Given the description of an element on the screen output the (x, y) to click on. 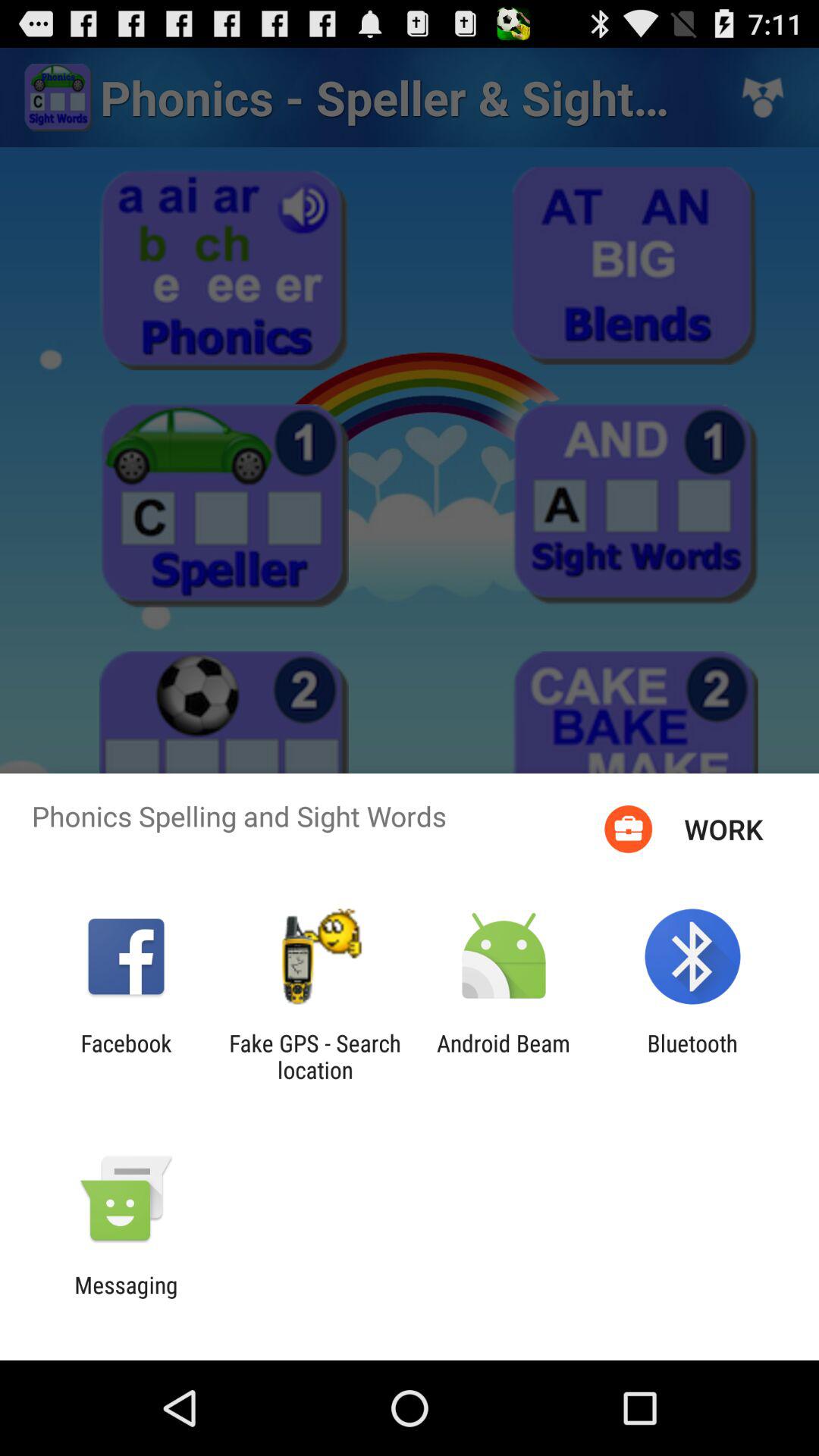
launch fake gps search icon (314, 1056)
